Given the description of an element on the screen output the (x, y) to click on. 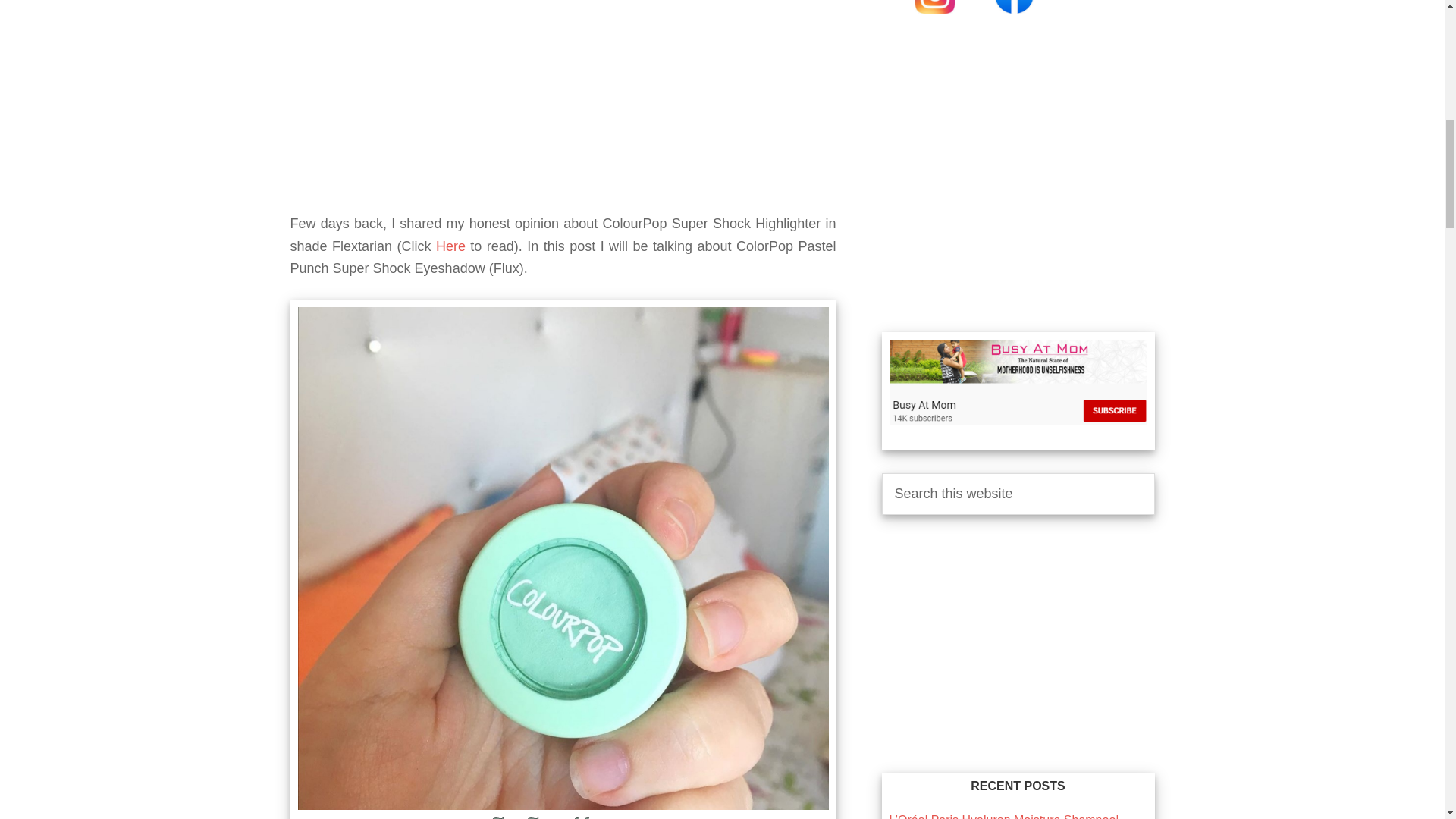
Here (450, 245)
Advertisement (562, 106)
Advertisement (1017, 180)
Advertisement (1017, 643)
